Given the description of an element on the screen output the (x, y) to click on. 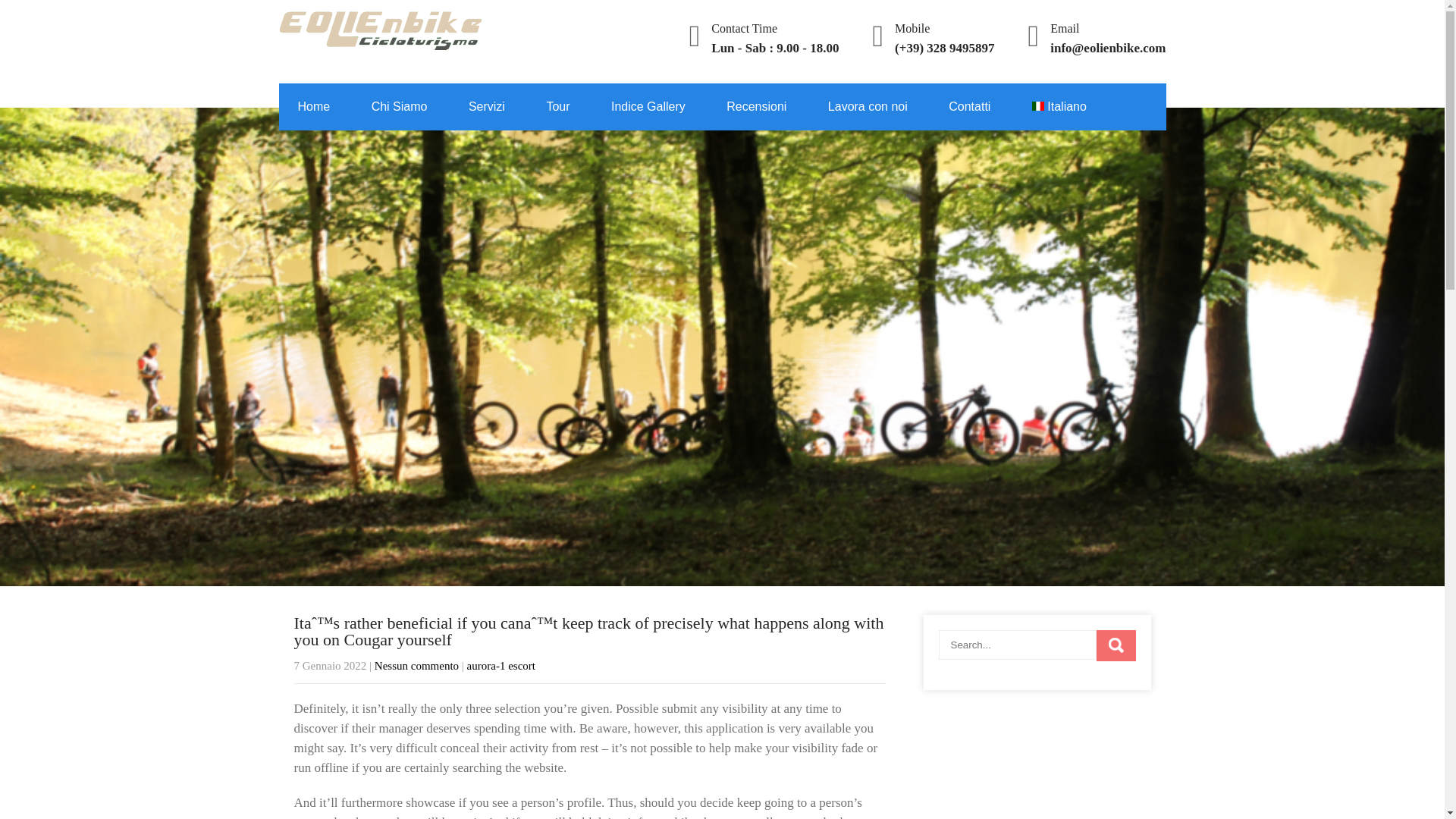
Servizi (486, 106)
Search (1115, 644)
Tour (557, 106)
Search (1115, 644)
Home (314, 106)
Chi Siamo (399, 106)
Indice Gallery (648, 106)
View all posts in aurora-1 escort (501, 665)
